Given the description of an element on the screen output the (x, y) to click on. 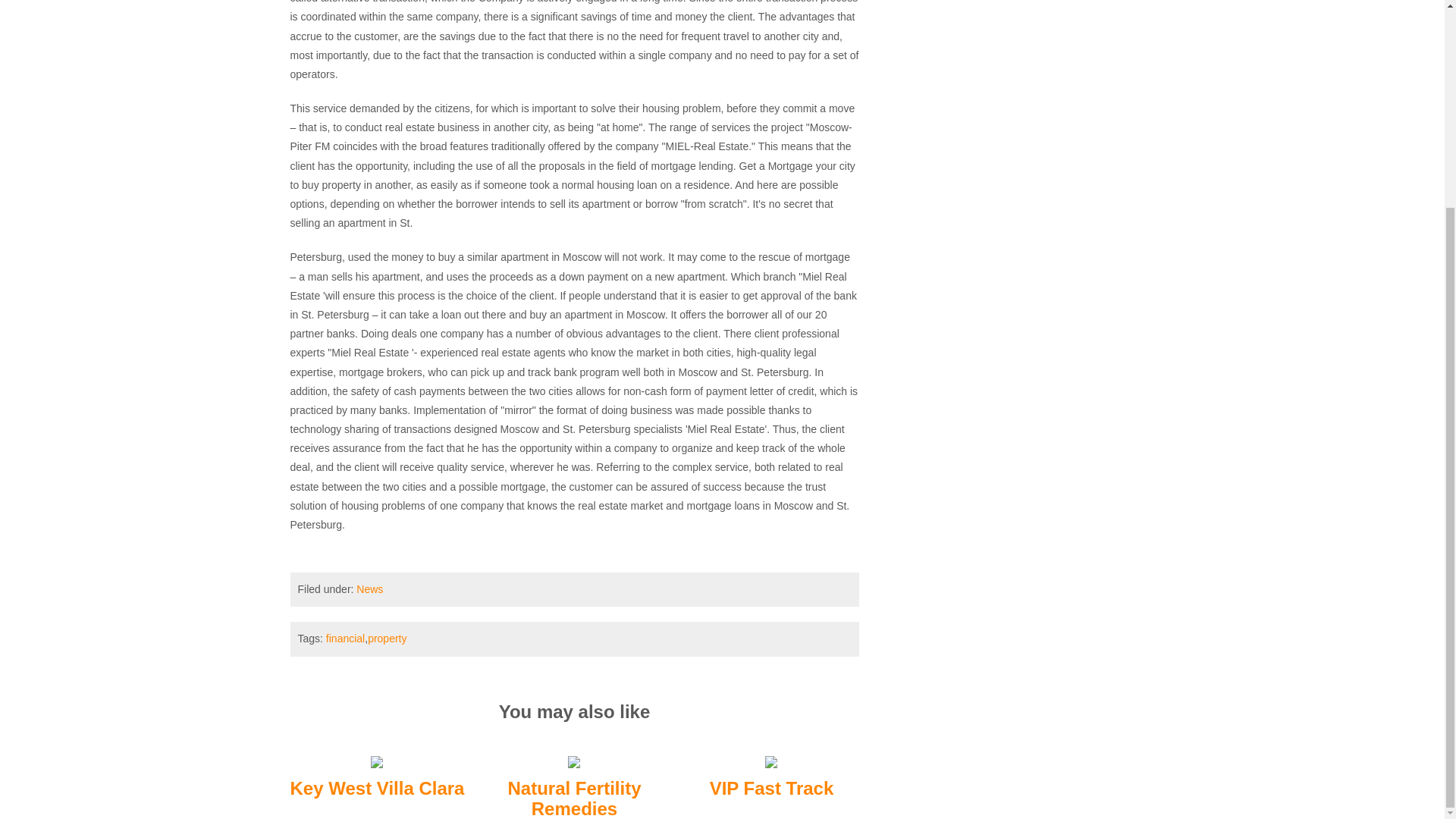
property (387, 638)
News (369, 589)
VIP Fast Track (771, 761)
Key West Villa Clara (376, 761)
financial (345, 638)
VIP Fast Track (772, 788)
Natural Fertility Remedies (573, 761)
Key West Villa Clara (376, 788)
Natural Fertility Remedies (573, 798)
